Given the description of an element on the screen output the (x, y) to click on. 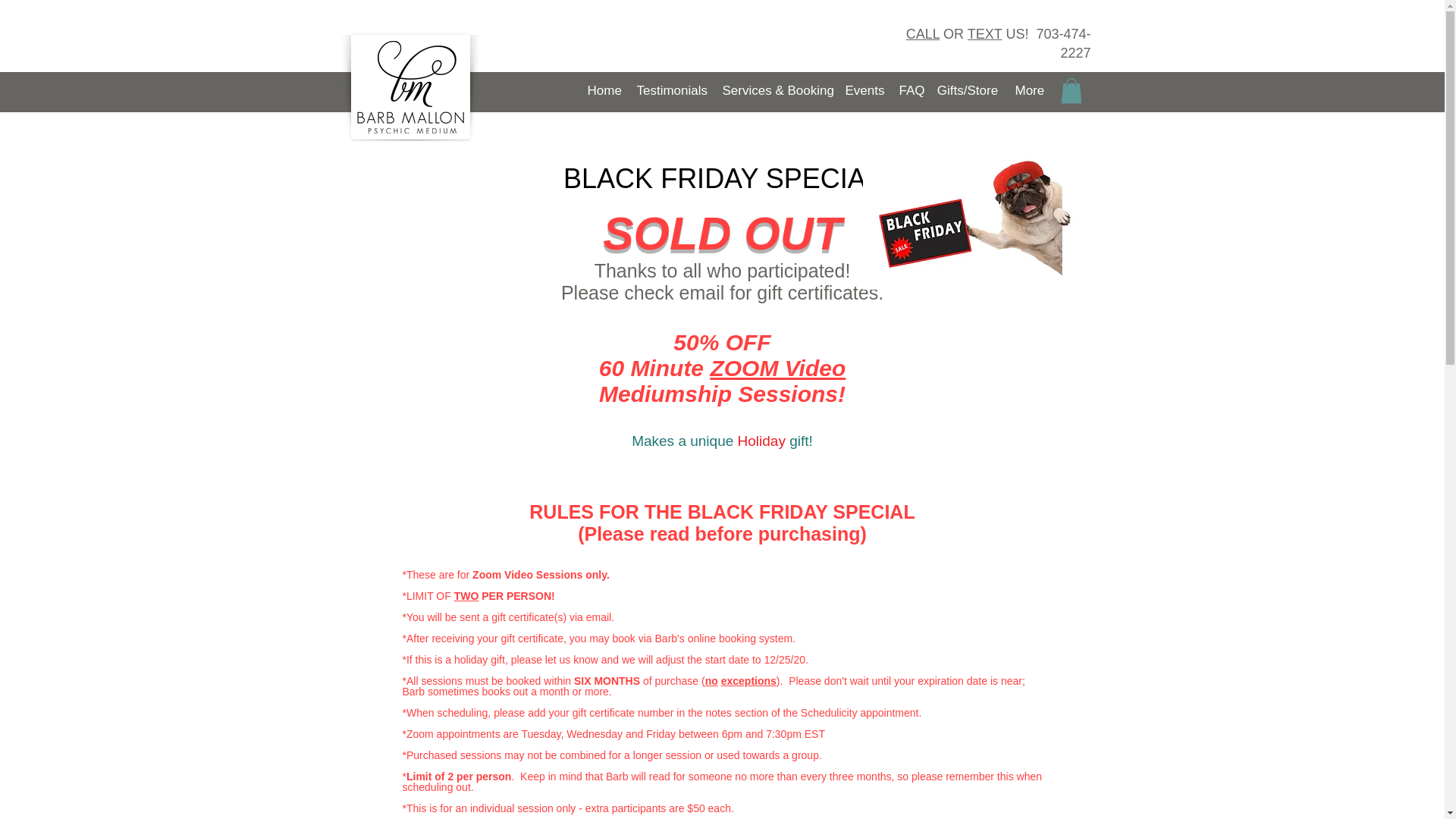
Events (864, 90)
Home (603, 90)
CALL (922, 33)
Testimonials (670, 90)
TEXT (985, 33)
FAQ (908, 90)
